Given the description of an element on the screen output the (x, y) to click on. 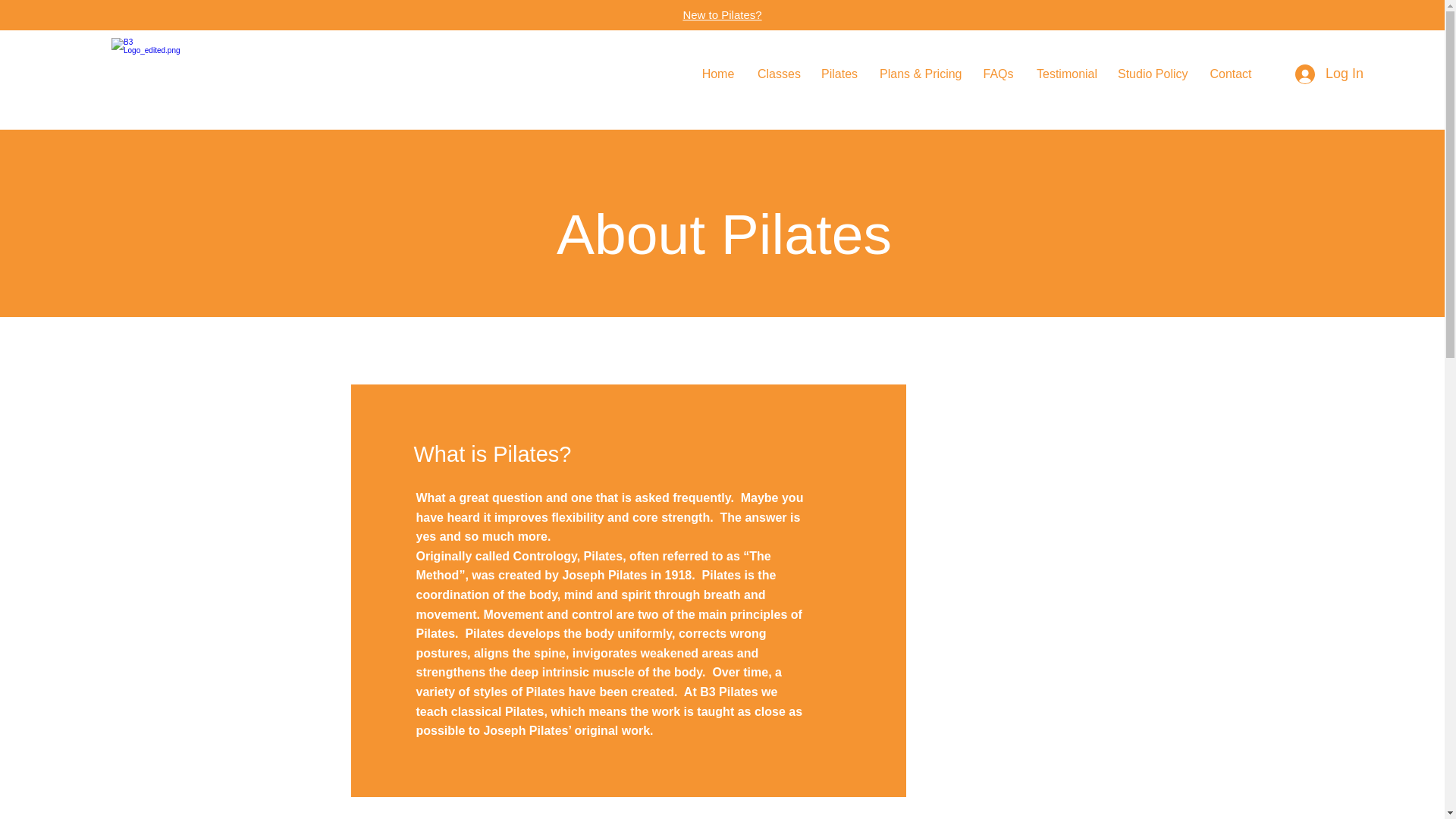
Contact (1230, 74)
New to Pilates? (721, 14)
Testimonial (1065, 74)
Classes (777, 74)
Home (717, 74)
FAQs (998, 74)
Pilates (838, 74)
Studio Policy (1152, 74)
Log In (1321, 73)
